Given the description of an element on the screen output the (x, y) to click on. 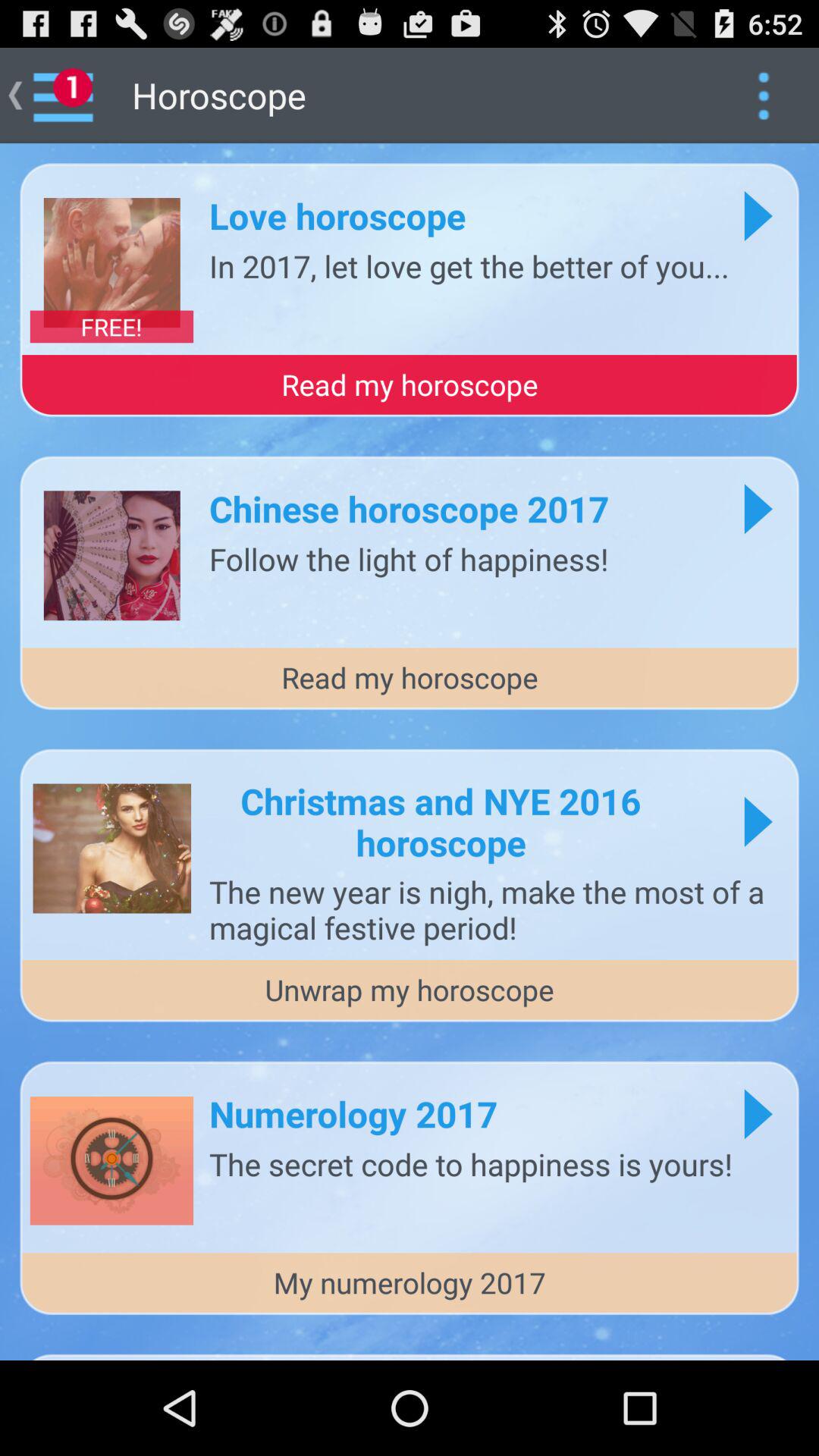
choose icon to the right of horoscope item (763, 95)
